Given the description of an element on the screen output the (x, y) to click on. 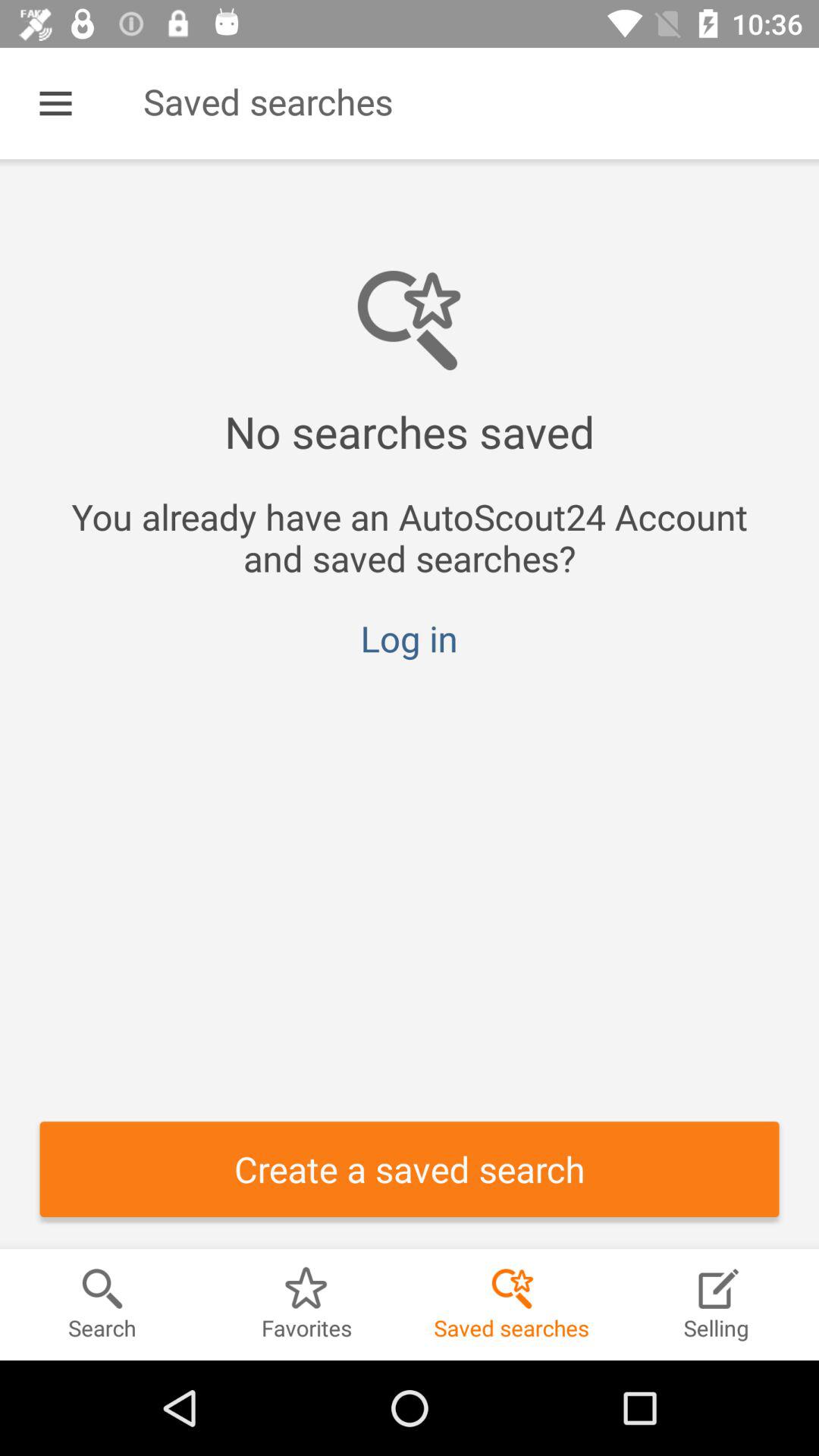
turn off the item to the left of saved searches item (55, 103)
